Given the description of an element on the screen output the (x, y) to click on. 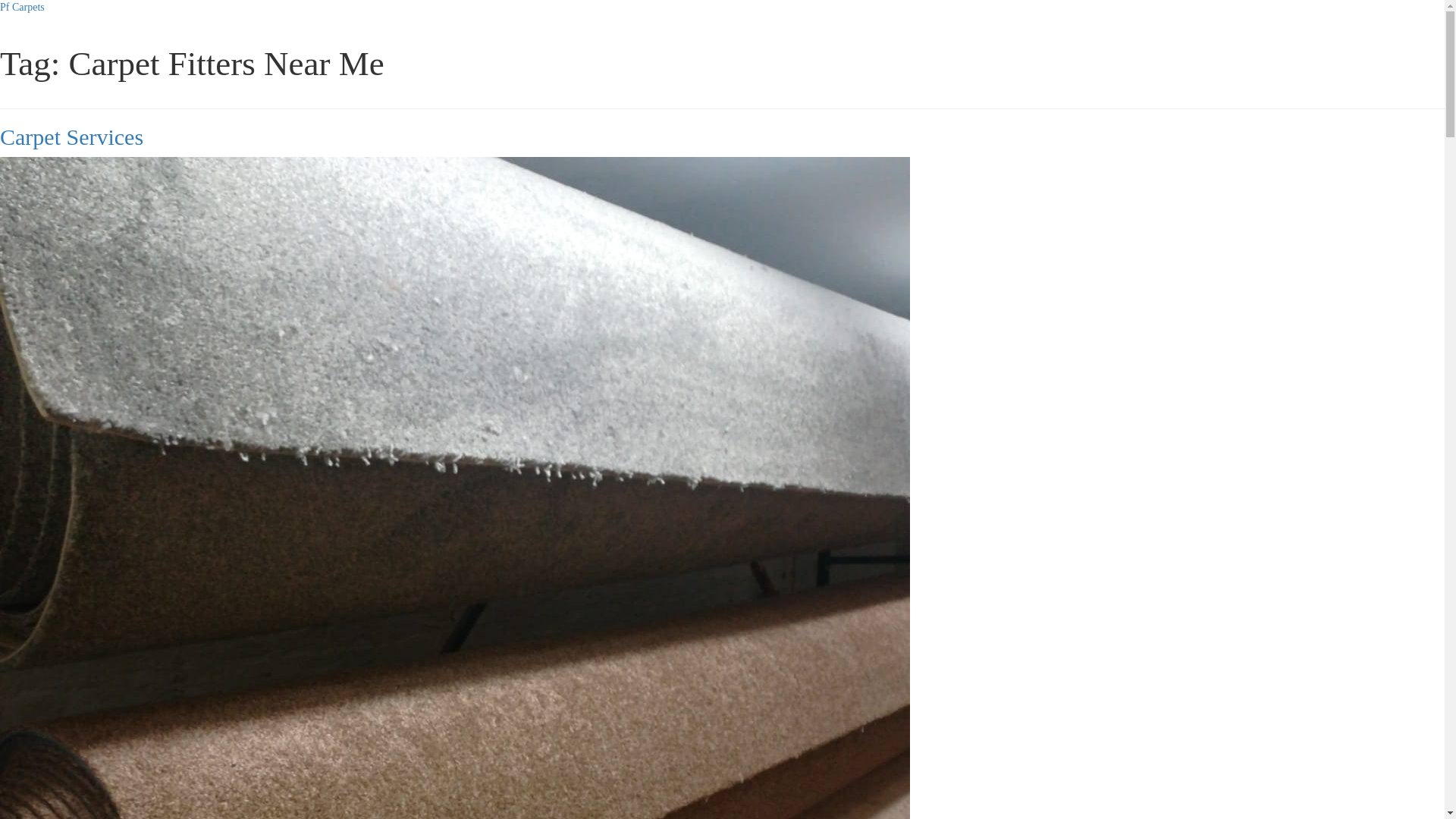
Pf Carpets (22, 7)
Carpet Services (71, 136)
